Given the description of an element on the screen output the (x, y) to click on. 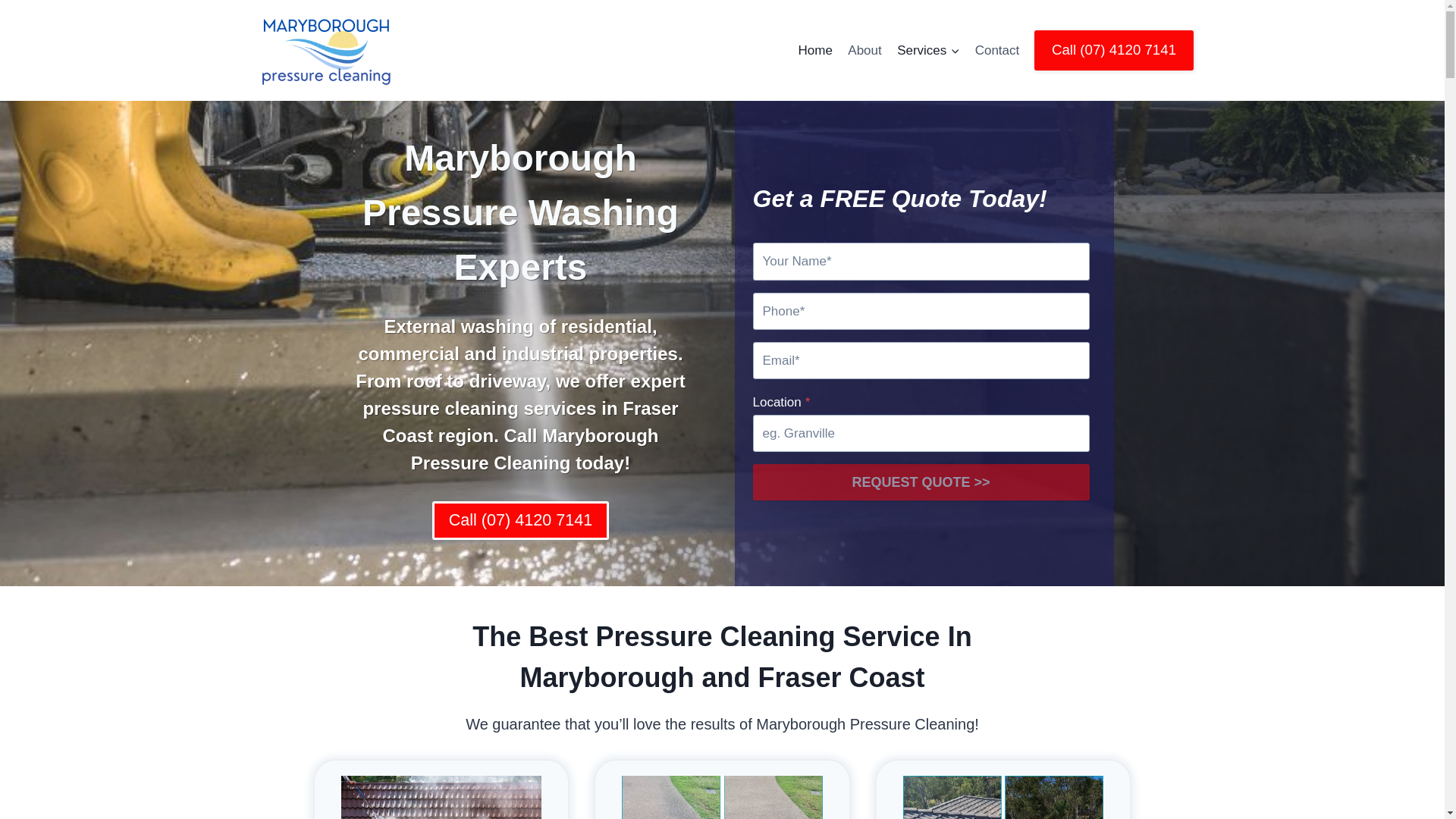
Contact (997, 50)
Services (928, 50)
About (864, 50)
Home (815, 50)
